Given the description of an element on the screen output the (x, y) to click on. 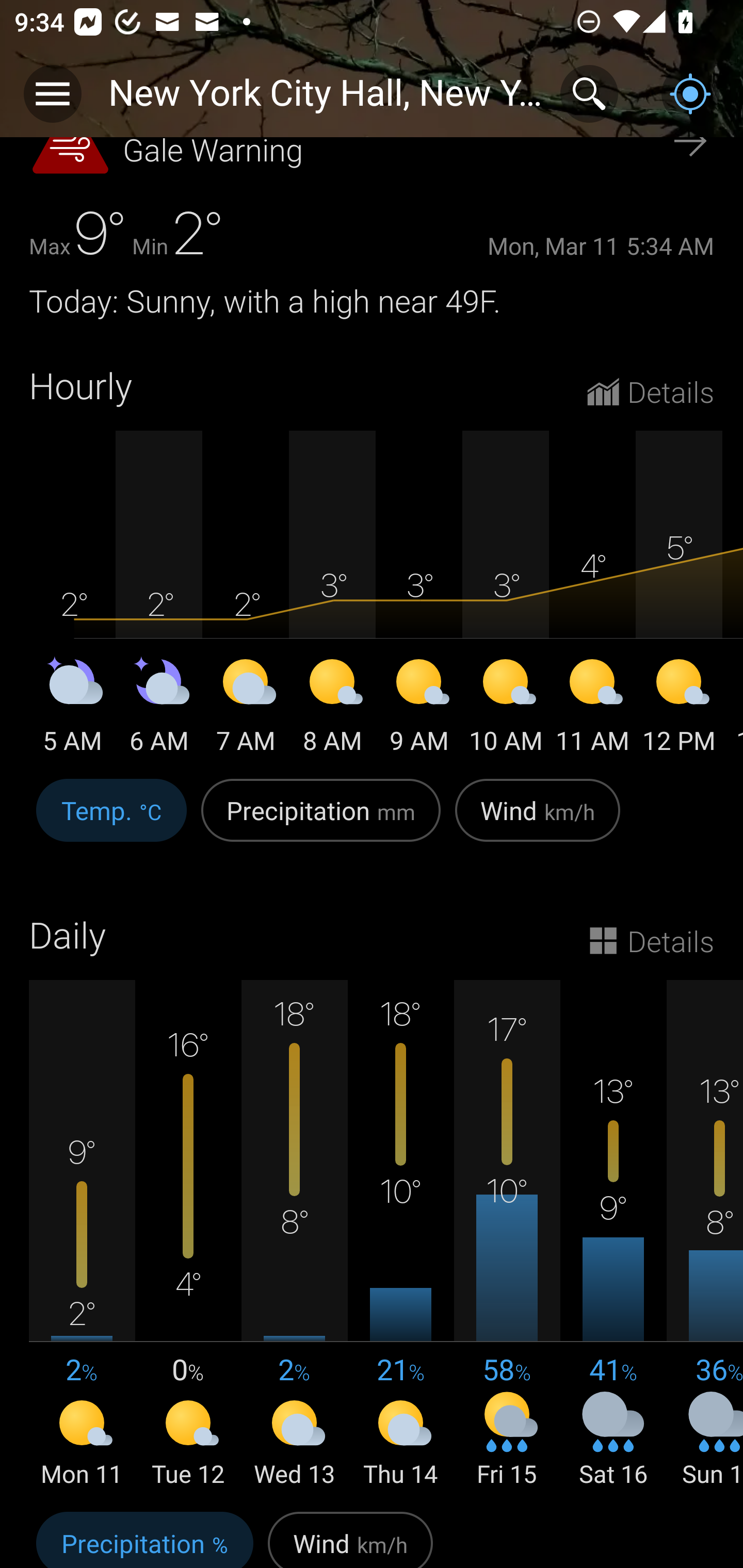
5 AM (71, 709)
6 AM (158, 709)
7 AM (245, 709)
8 AM (332, 709)
9 AM (418, 709)
10 AM (505, 709)
11 AM (592, 709)
12 PM (679, 709)
Temp. °C (110, 820)
Precipitation mm (320, 820)
Wind km/h (537, 820)
9° 2° 2 % Mon 11 (81, 1234)
16° 4° 0 % Tue 12 (188, 1234)
18° 8° 2 % Wed 13 (294, 1234)
18° 10° 21 % Thu 14 (400, 1234)
17° 10° 58 % Fri 15 (506, 1234)
13° 9° 41 % Sat 16 (613, 1234)
13° 8° 36 % Sun 17 (704, 1234)
Precipitation % (144, 1536)
Wind km/h (349, 1536)
